Given the description of an element on the screen output the (x, y) to click on. 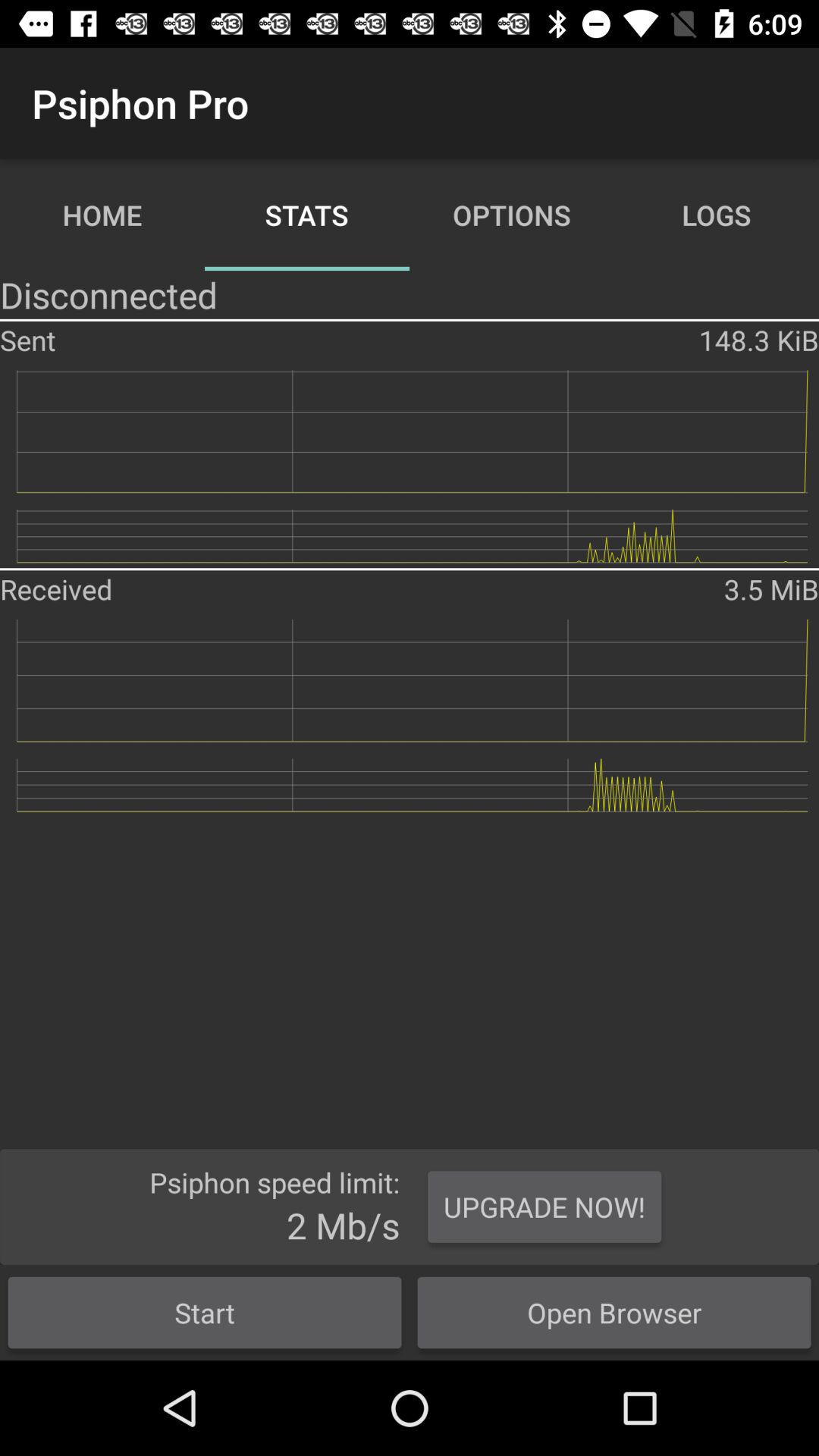
click the upgrade now! button (544, 1206)
